Given the description of an element on the screen output the (x, y) to click on. 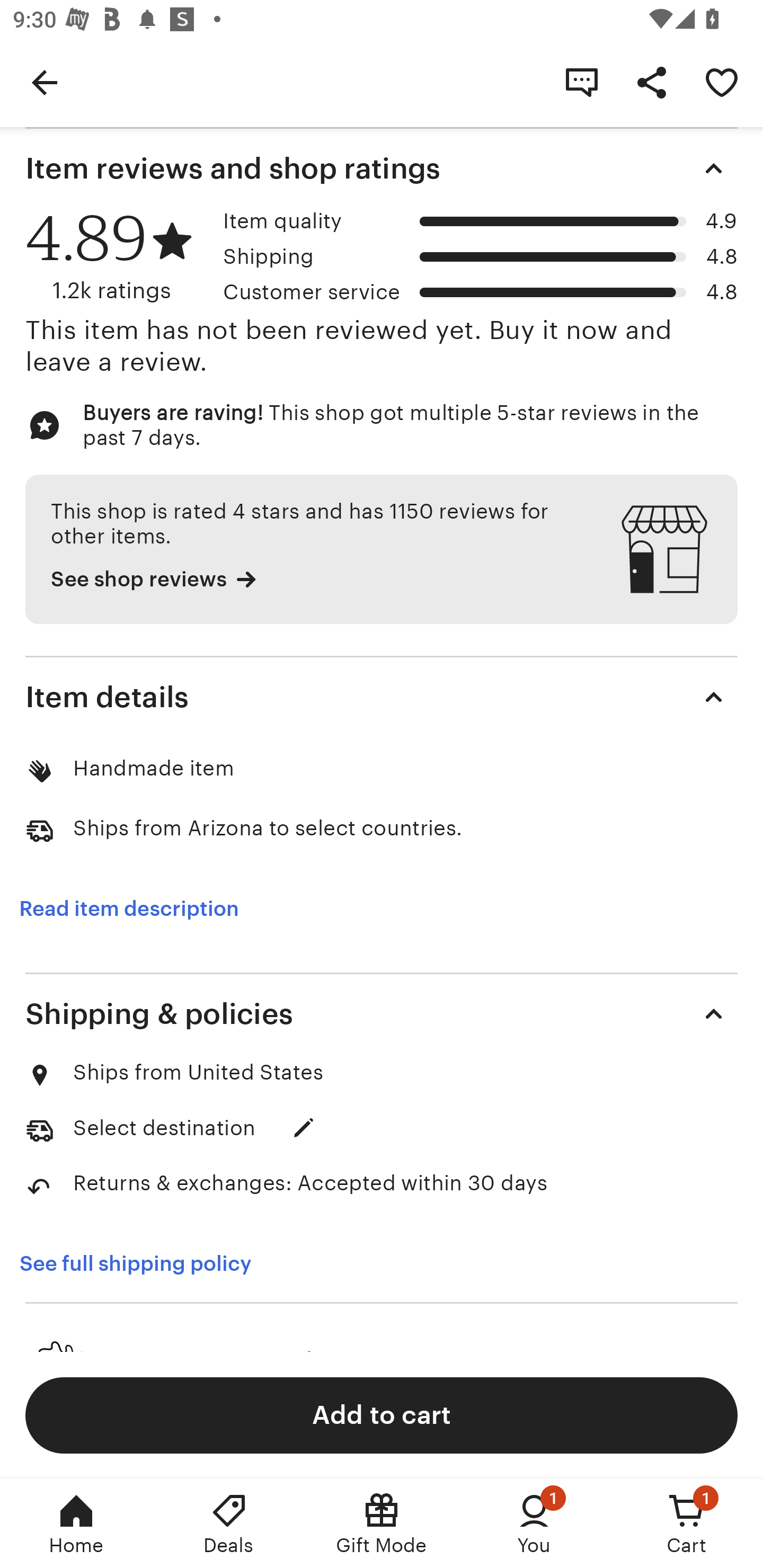
Navigate up (44, 81)
Contact shop (581, 81)
Share (651, 81)
Item reviews and shop ratings (381, 168)
4.89 1.2k ratings (117, 257)
Item details (381, 696)
Read item description (128, 908)
Shipping & policies (381, 1013)
Update (302, 1127)
See full shipping policy (147, 1263)
Add to cart (381, 1414)
Deals (228, 1523)
Gift Mode (381, 1523)
You, 1 new notification You (533, 1523)
Cart, 1 new notification Cart (686, 1523)
